Given the description of an element on the screen output the (x, y) to click on. 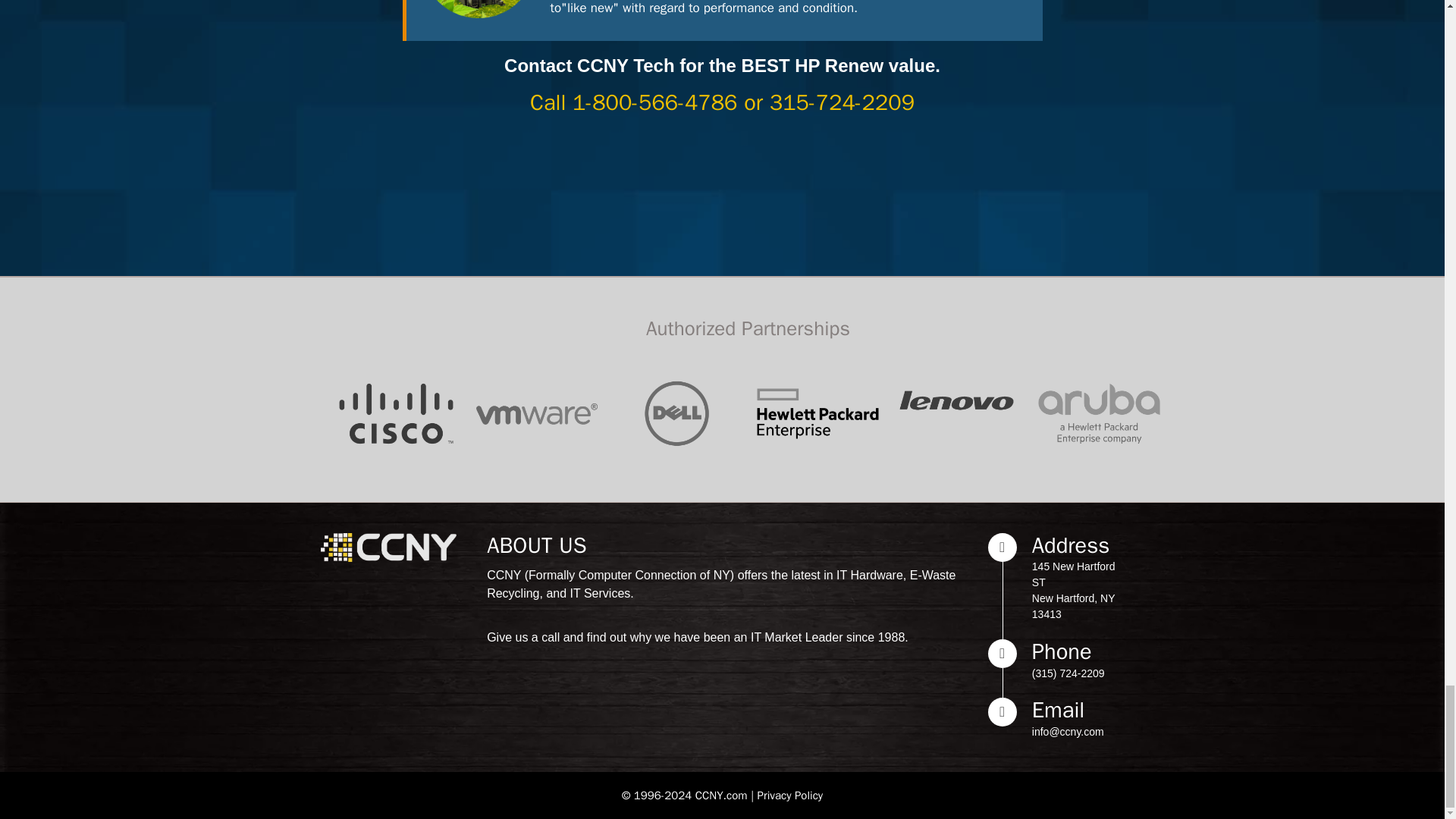
Privacy Policy (790, 795)
Call 1-800-566-4786 or 315-724-2209 (721, 102)
ccny dot com logo 3 white (388, 547)
Call 1-800-566-4786 or 315-724-2209 (721, 102)
